Given the description of an element on the screen output the (x, y) to click on. 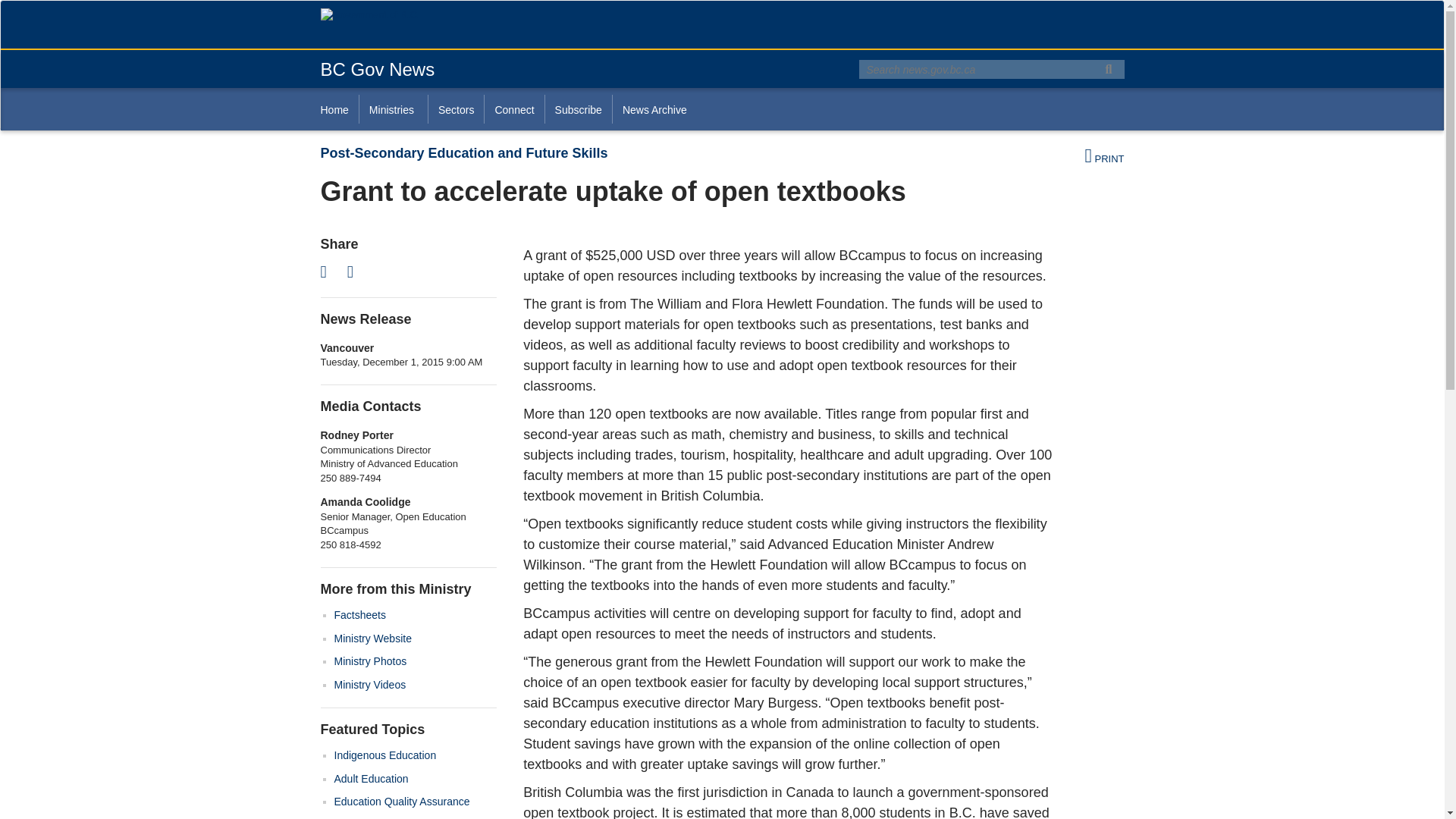
Connect (513, 109)
News Archive (654, 109)
Home (339, 109)
X (327, 271)
Government of B.C. (384, 15)
Subscribe (577, 109)
BC Gov News (376, 68)
Sectors (455, 109)
Email (354, 271)
Ministries (393, 109)
